Given the description of an element on the screen output the (x, y) to click on. 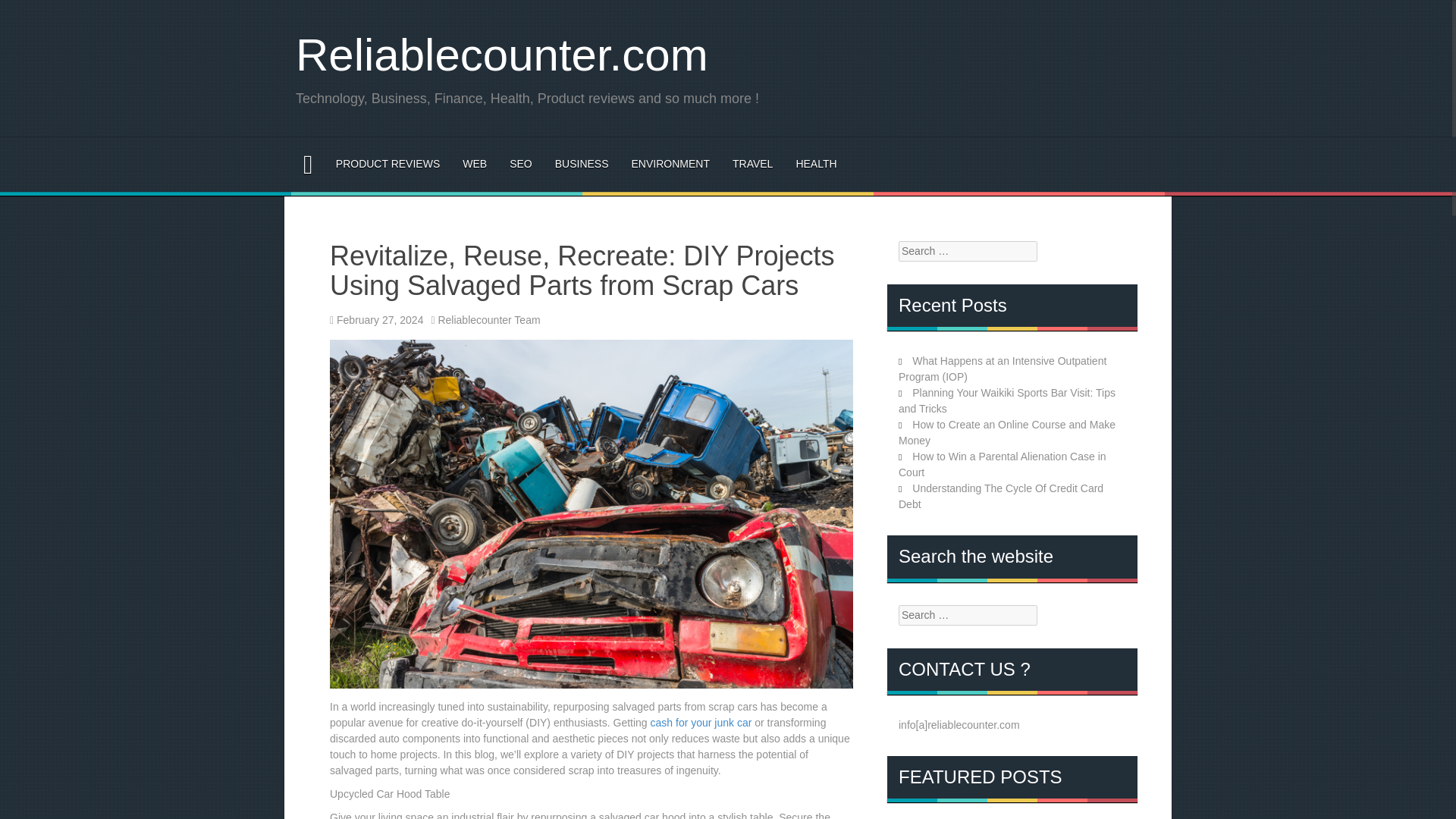
How to Win a Parental Alienation Case in Court (1002, 464)
How to Create an Online Course and Make Money (1006, 432)
HEALTH (814, 163)
Planning Your Waikiki Sports Bar Visit: Tips and Tricks (1006, 400)
WEB (474, 163)
ENVIRONMENT (670, 163)
Understanding The Cycle Of Credit Card Debt (1000, 496)
Reliablecounter Team (489, 319)
February 27, 2024 (379, 319)
TRAVEL (752, 163)
Reliablecounter.com (501, 54)
PRODUCT REVIEWS (387, 163)
Search (22, 10)
SEO (520, 163)
